Given the description of an element on the screen output the (x, y) to click on. 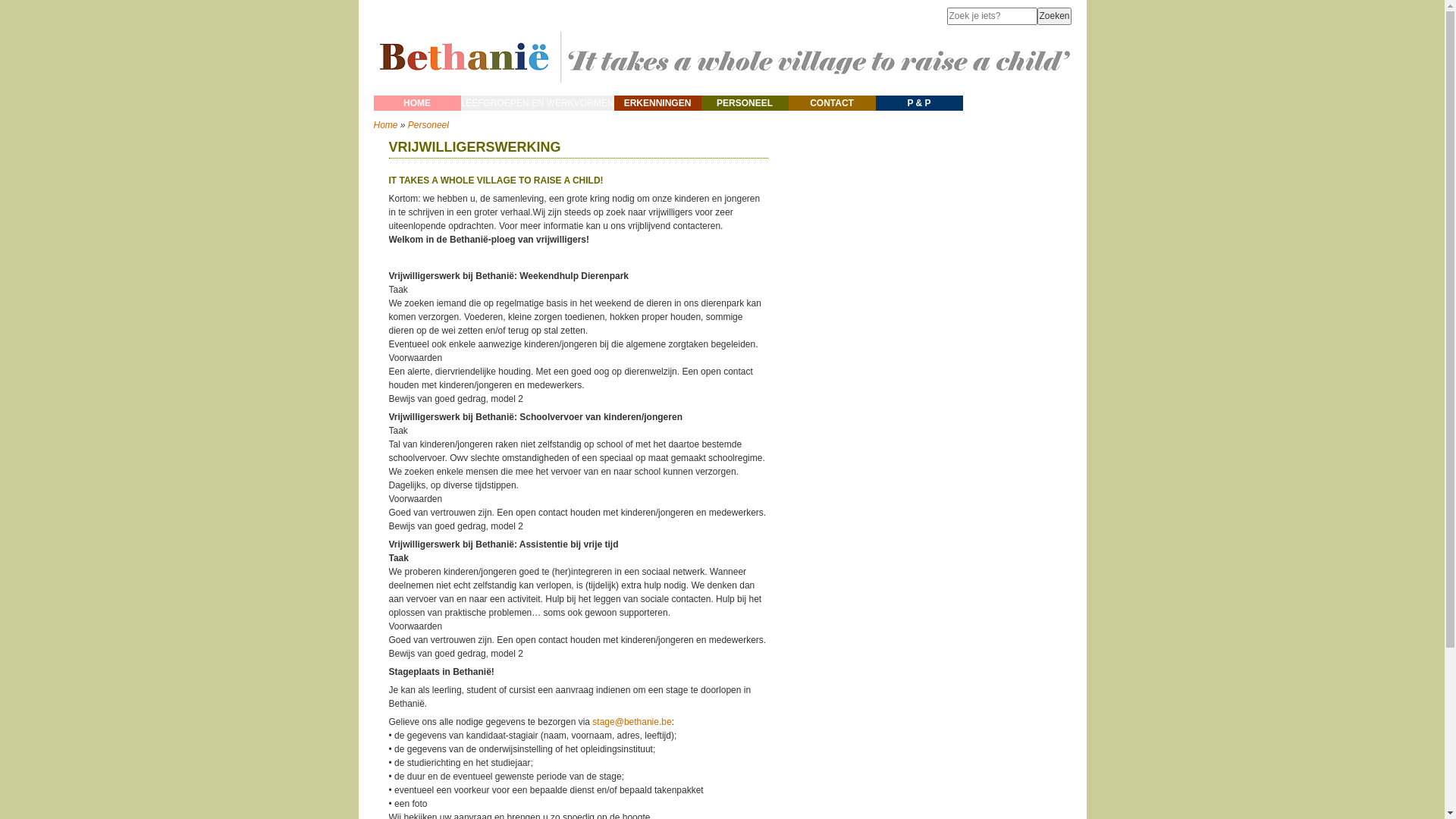
P & P Element type: text (919, 102)
LEEFGROEPEN EN WERKVORMEN Element type: text (537, 102)
Personeel Element type: text (427, 124)
Home Element type: text (385, 124)
stage@bethanie.be Element type: text (631, 721)
CONTACT Element type: text (831, 102)
ERKENNINGEN Element type: text (657, 102)
Zoeken Element type: text (1053, 16)
HOME Element type: text (416, 102)
Geef de woorden op waarnaar u wilt zoeken. Element type: hover (992, 16)
Overslaan en naar de algemene inhoud gaan Element type: text (91, 0)
PERSONEEL Element type: text (744, 102)
home Element type: hover (721, 88)
